Given the description of an element on the screen output the (x, y) to click on. 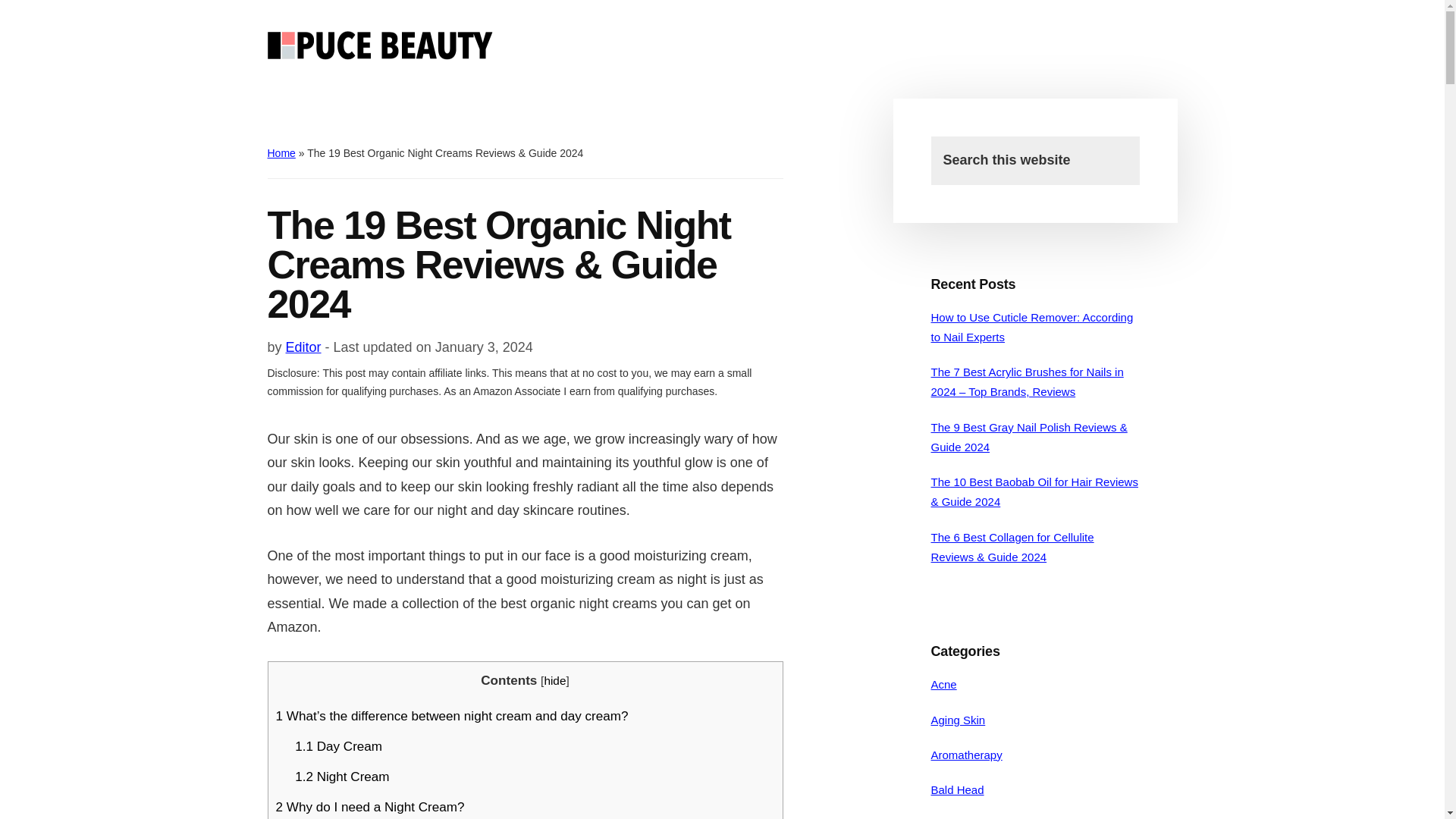
Home (280, 152)
1.1 Day Cream (338, 746)
2 Why do I need a Night Cream? (370, 807)
1.2 Night Cream (341, 776)
Puce Beauty (380, 45)
Editor (303, 346)
hide (554, 680)
